Given the description of an element on the screen output the (x, y) to click on. 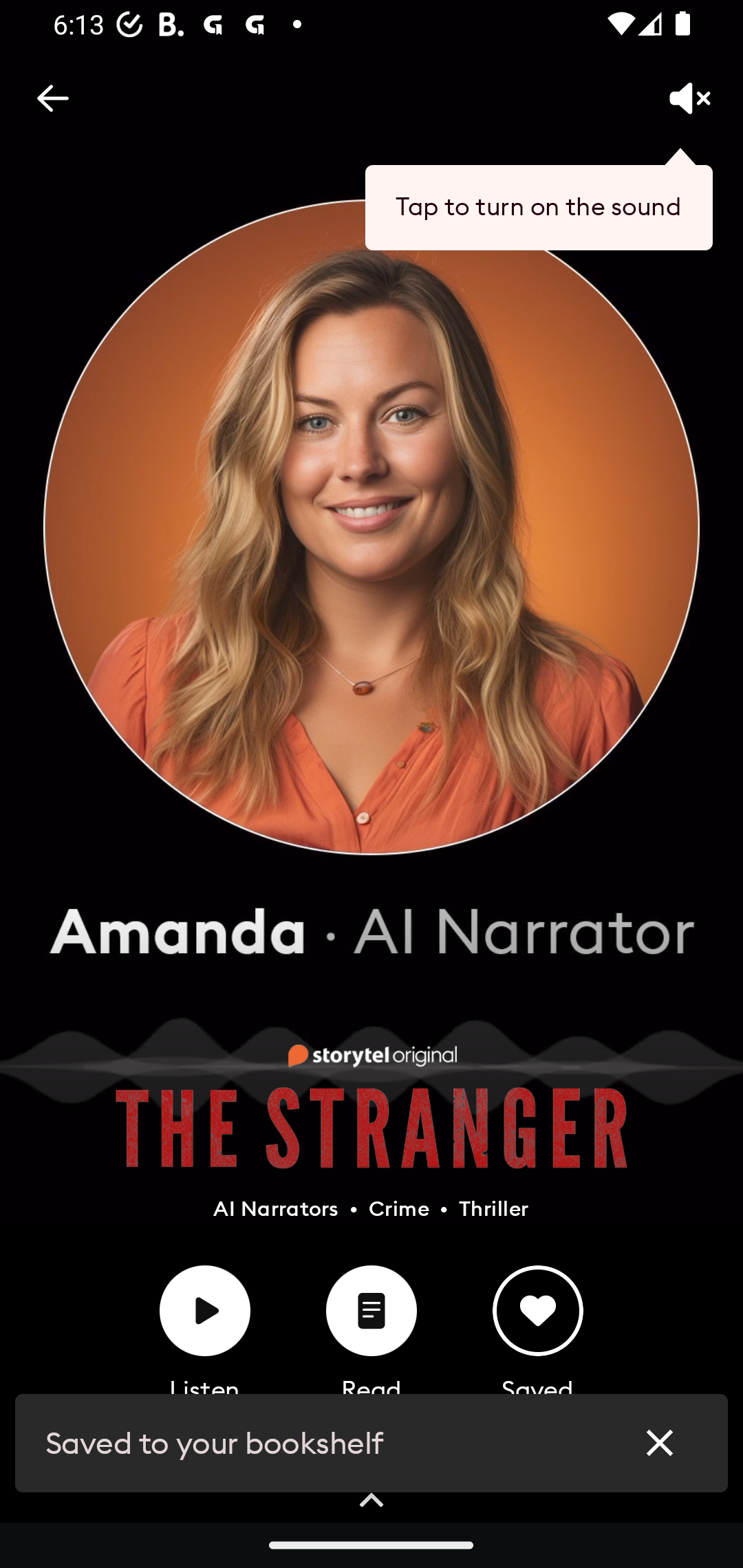
Back (52, 98)
Listen to book (204, 1310)
Read book (371, 1310)
Go to book details (371, 1500)
